Given the description of an element on the screen output the (x, y) to click on. 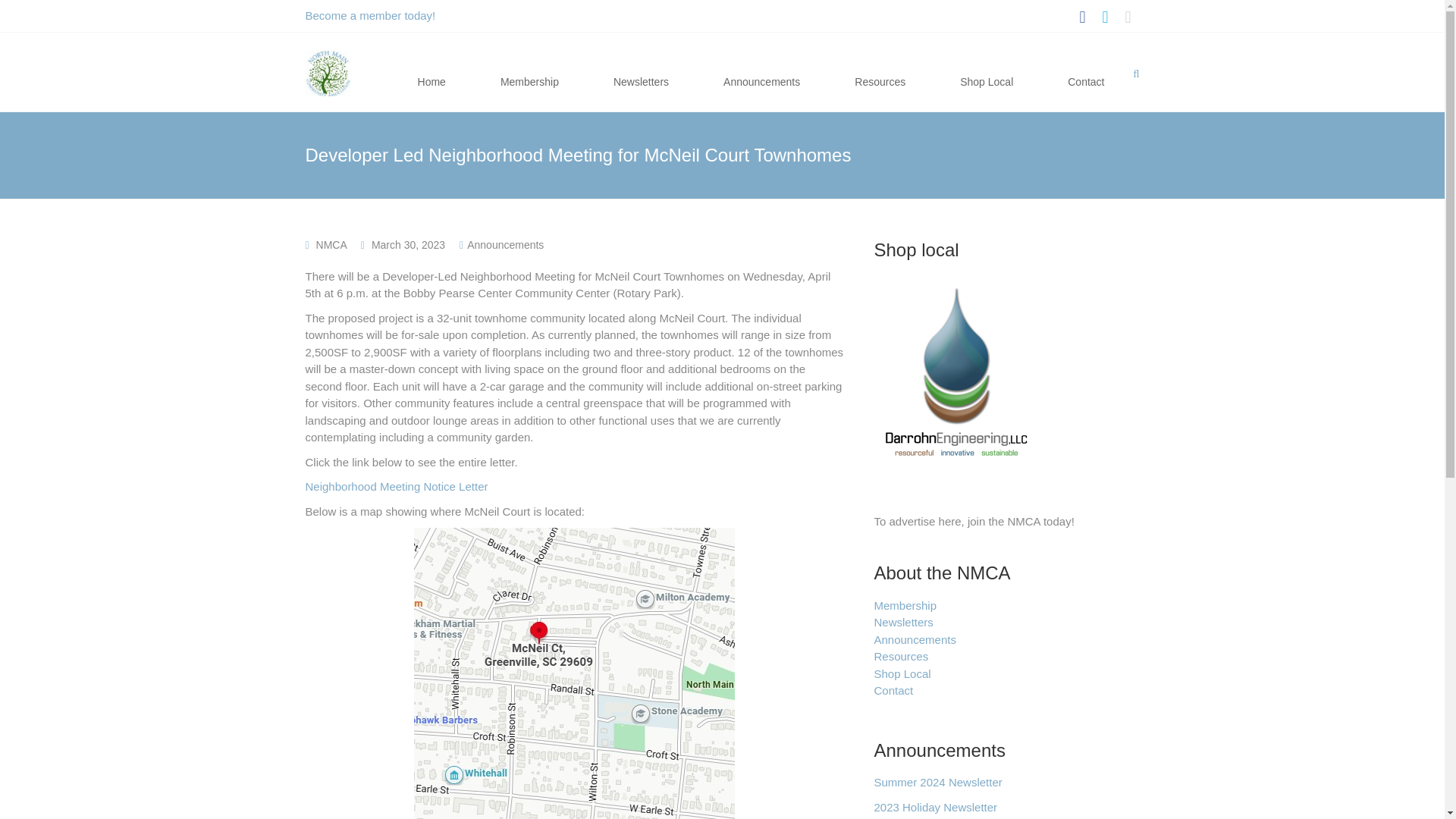
Newsletters (641, 72)
Membership (528, 72)
March 30, 2023 (408, 244)
Announcements (914, 639)
Contact (1085, 72)
NMCA (330, 244)
Announcements (761, 72)
Announcements (505, 244)
Contact (892, 689)
Home (432, 72)
